Given the description of an element on the screen output the (x, y) to click on. 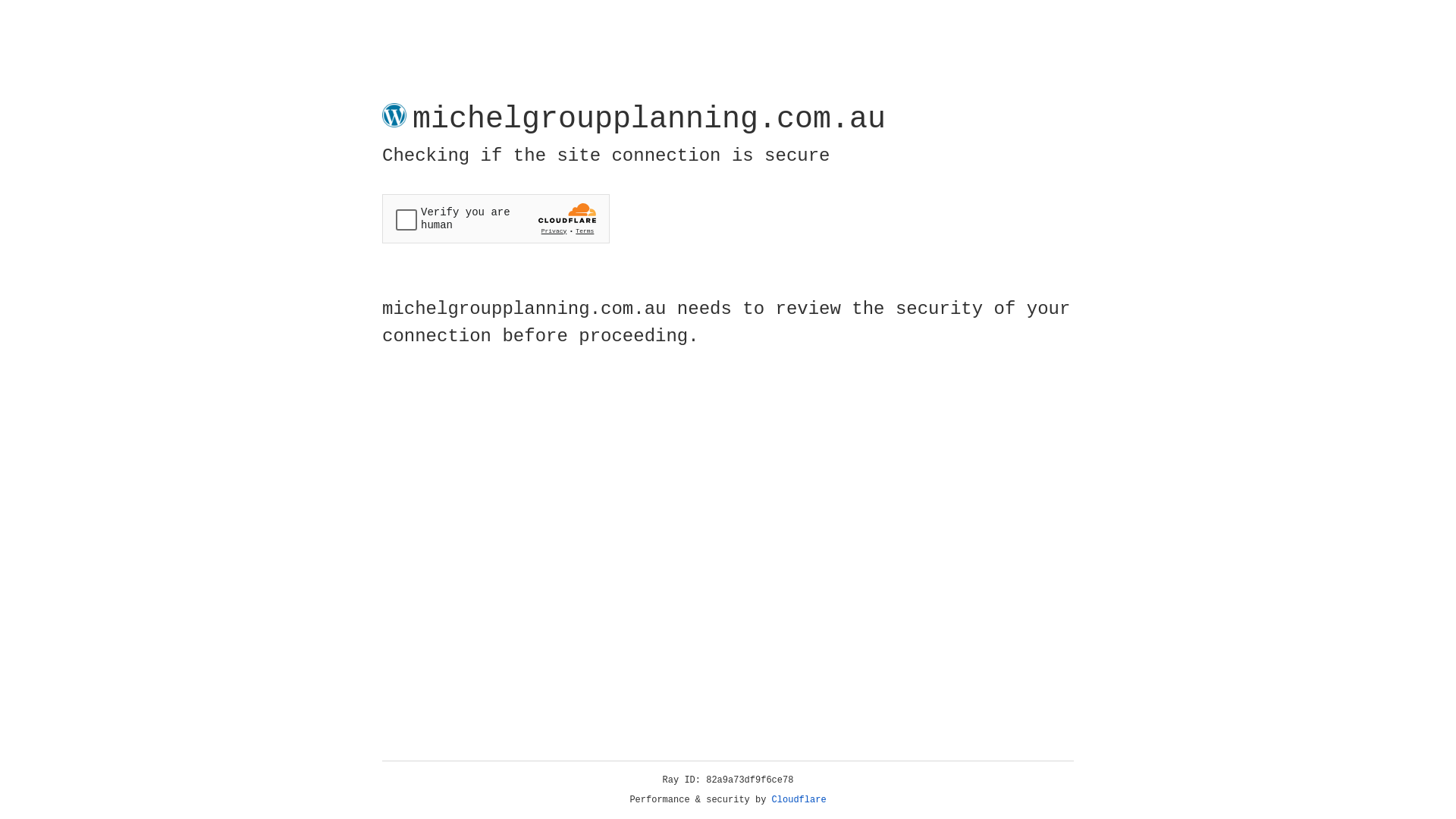
Cloudflare Element type: text (798, 799)
Widget containing a Cloudflare security challenge Element type: hover (495, 218)
